Given the description of an element on the screen output the (x, y) to click on. 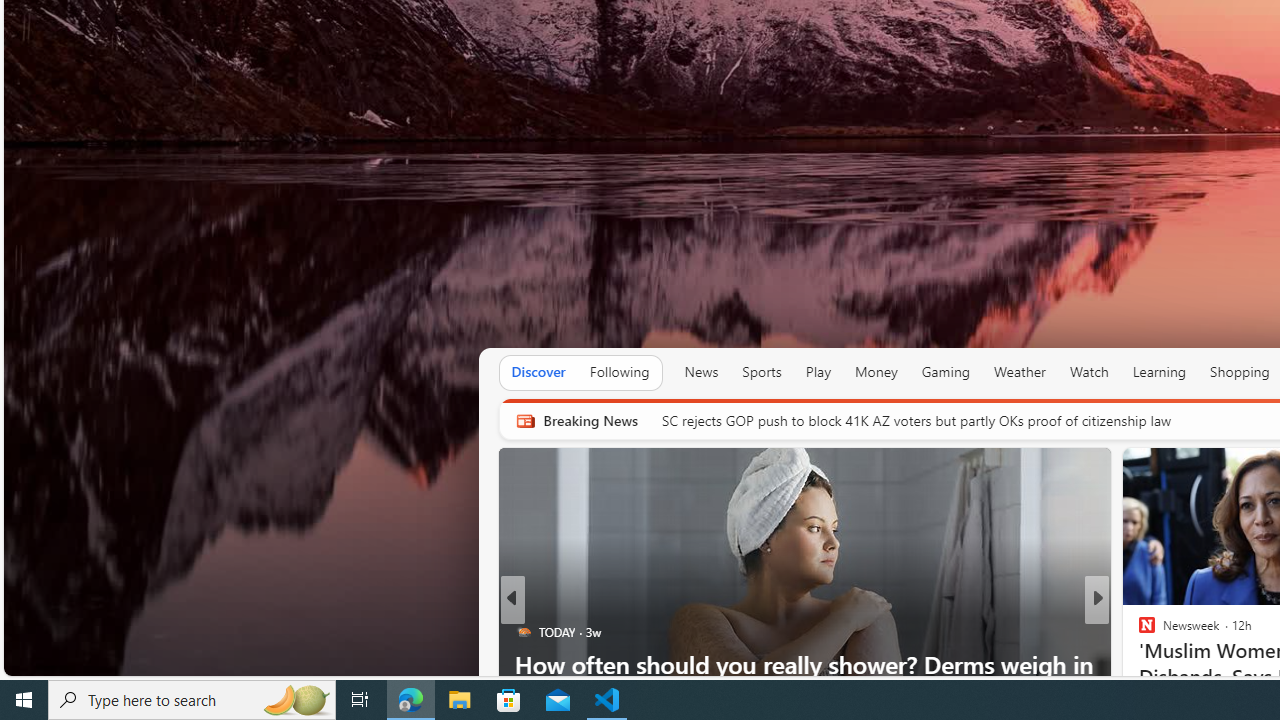
Play (817, 371)
The Kitchn (1138, 632)
The Motley Fool (1138, 632)
Learning (1159, 372)
Play (818, 372)
Sports (761, 371)
INSIDER (1138, 632)
Watch (1089, 372)
Newsweek (1138, 632)
Money (875, 371)
Nordace (1153, 663)
Watch (1089, 371)
